Given the description of an element on the screen output the (x, y) to click on. 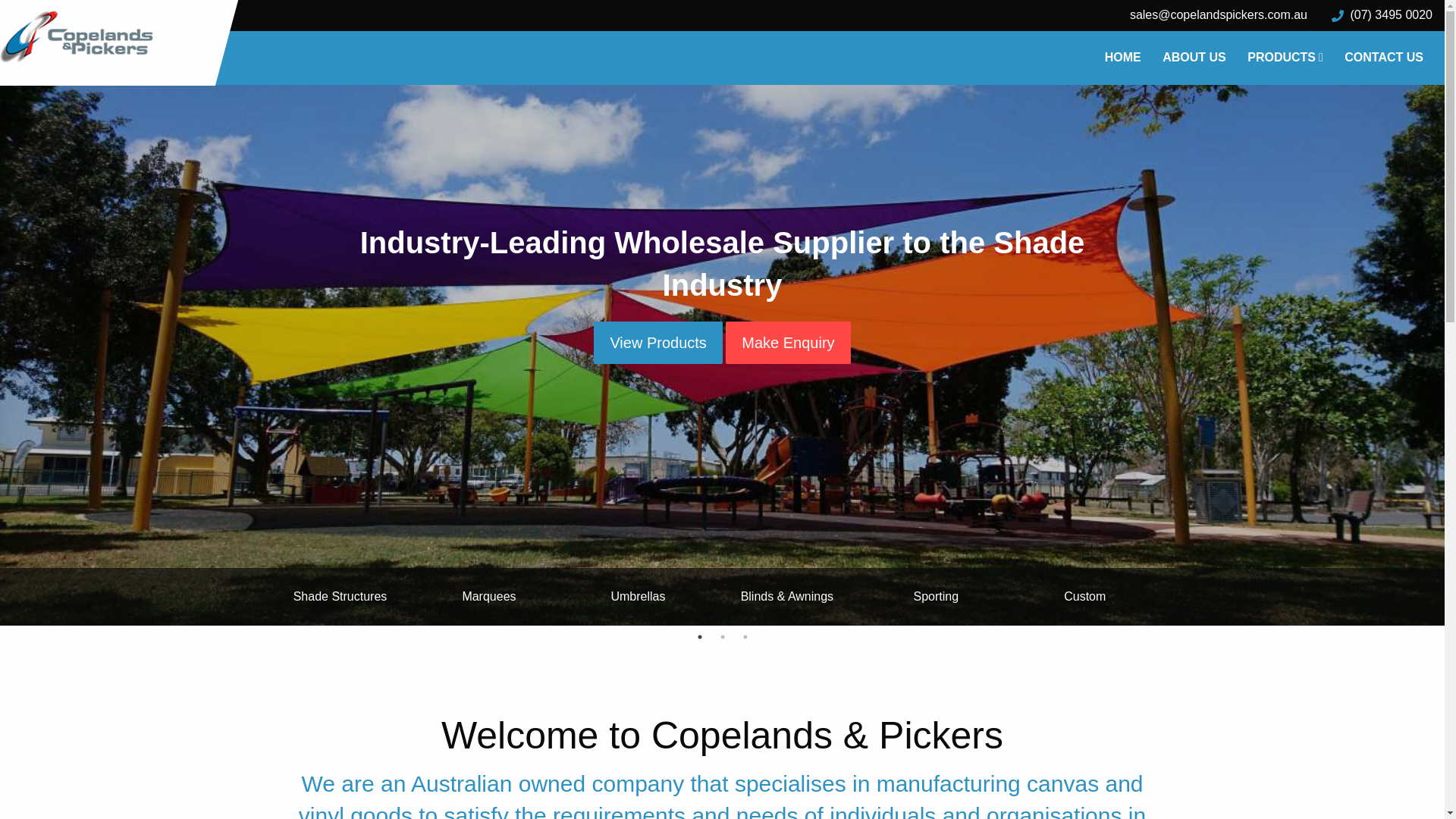
Make Enquiry Element type: text (787, 342)
HOME Element type: text (1122, 57)
Sporting Element type: text (935, 596)
PRODUCTS Element type: text (1285, 57)
ABOUT US Element type: text (1194, 57)
2 Element type: text (721, 636)
sales@copelandspickers.com.au Element type: text (1218, 15)
Umbrellas Element type: text (637, 596)
3 Element type: text (744, 636)
(07) 3495 0020 Element type: text (1381, 15)
1 Element type: text (698, 636)
CONTACT US Element type: text (1383, 57)
Custom Element type: text (1084, 596)
Marquees Element type: text (488, 596)
View Products Element type: text (657, 342)
Shade Structures Element type: text (339, 596)
Blinds & Awnings Element type: text (786, 596)
